Given the description of an element on the screen output the (x, y) to click on. 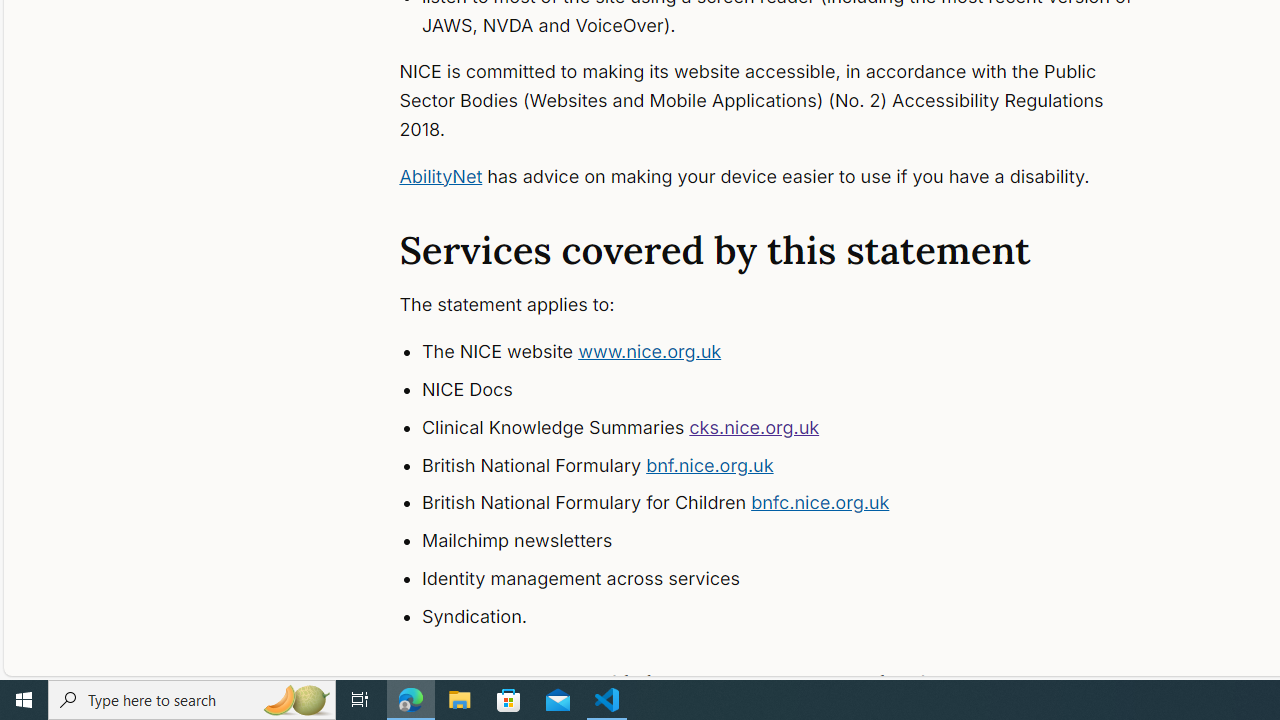
Clinical Knowledge Summaries cks.nice.org.uk (796, 427)
British National Formulary for Children bnfc.nice.org.uk (796, 503)
bnf.nice.org.uk (710, 464)
www.nice.org.uk (649, 351)
Syndication. (796, 616)
Identity management across services (796, 578)
AbilityNet (440, 175)
cks.nice.org.uk (754, 426)
NICE Docs (796, 389)
British National Formulary bnf.nice.org.uk (796, 465)
The NICE website www.nice.org.uk (796, 352)
bnfc.nice.org.uk (820, 502)
Mailchimp newsletters (796, 541)
